Given the description of an element on the screen output the (x, y) to click on. 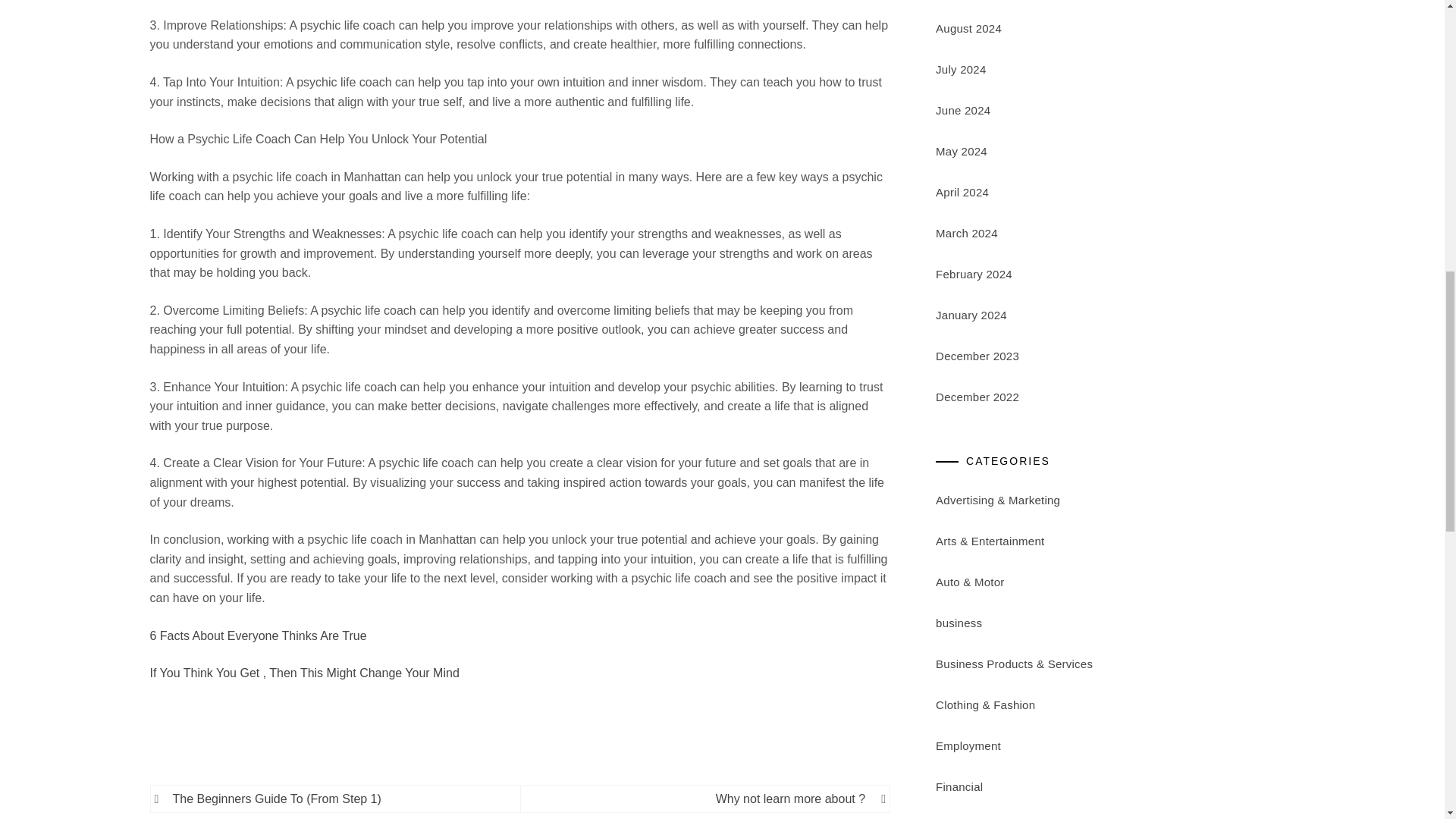
Why not learn more about ? (700, 799)
December 2022 (977, 396)
6 Facts About Everyone Thinks Are True (257, 635)
If You Think You Get , Then This Might Change Your Mind (304, 672)
January 2024 (971, 314)
June 2024 (963, 110)
July 2024 (960, 69)
April 2024 (962, 192)
business (958, 622)
May 2024 (961, 151)
